Given the description of an element on the screen output the (x, y) to click on. 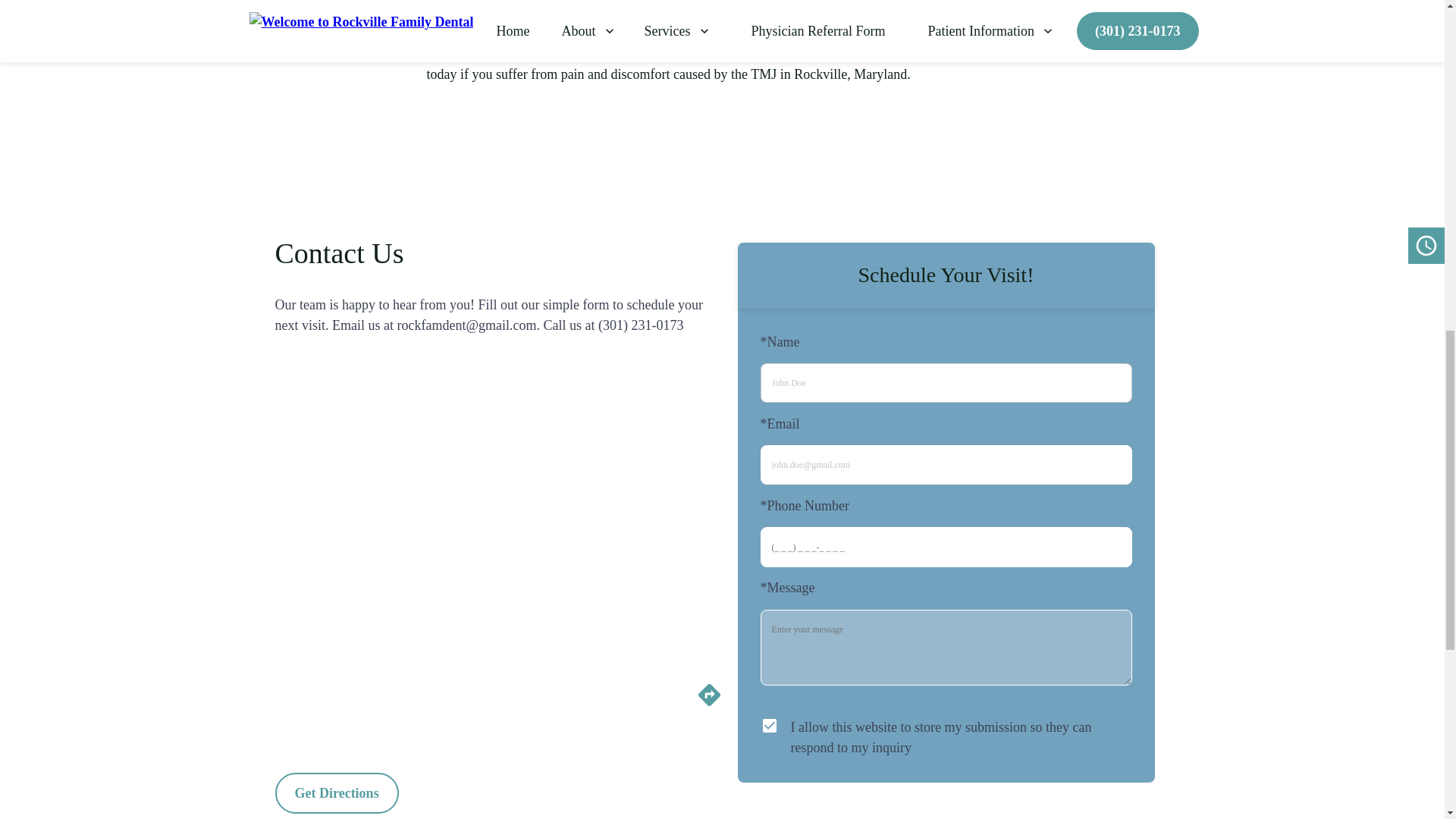
Get Directions (336, 793)
